Given the description of an element on the screen output the (x, y) to click on. 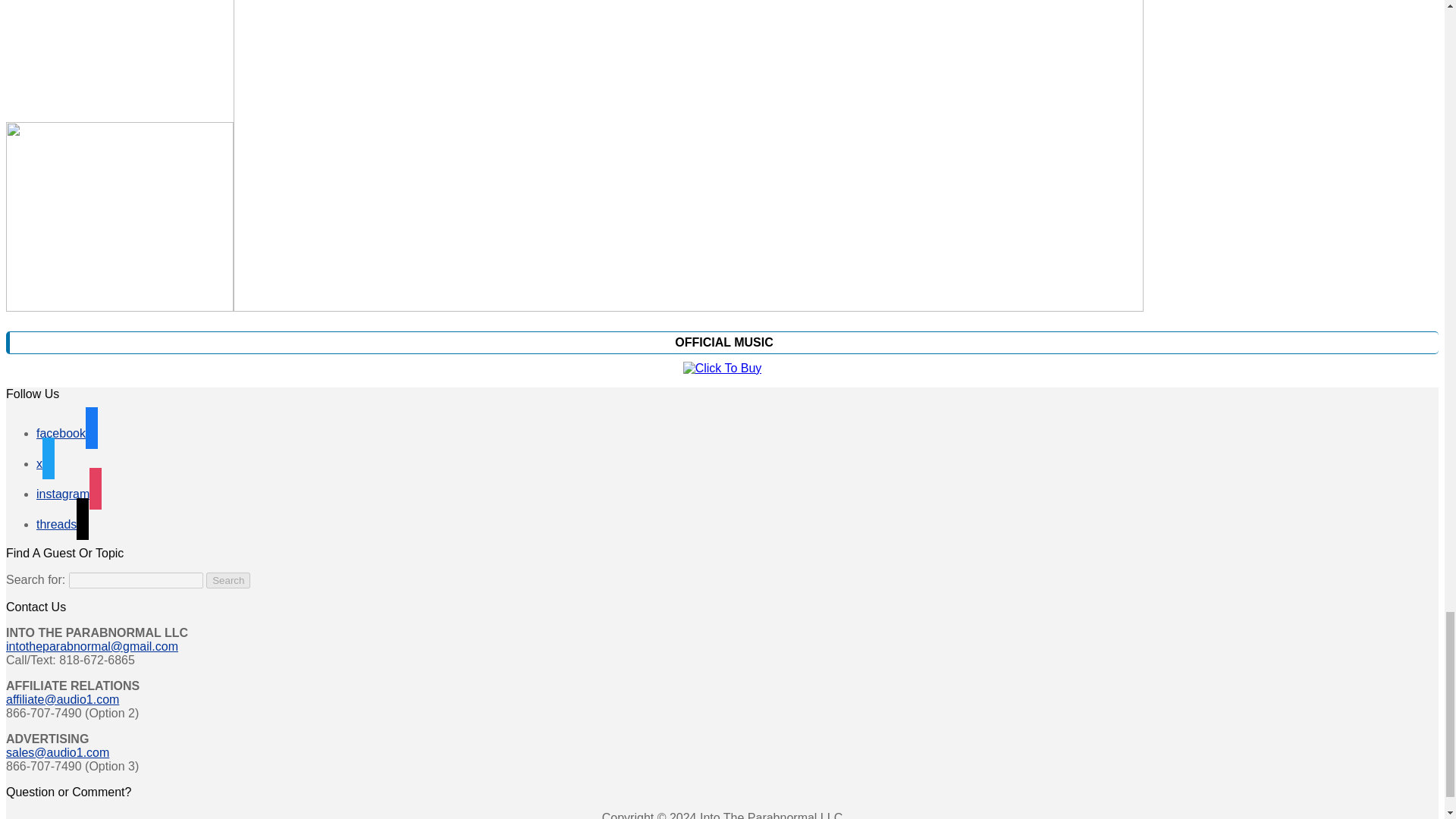
Facebook (66, 432)
Search (228, 580)
Twitter (45, 463)
threads (62, 523)
Search (228, 580)
Instagram (68, 493)
instagram (68, 493)
x (45, 463)
facebook (66, 432)
